Given the description of an element on the screen output the (x, y) to click on. 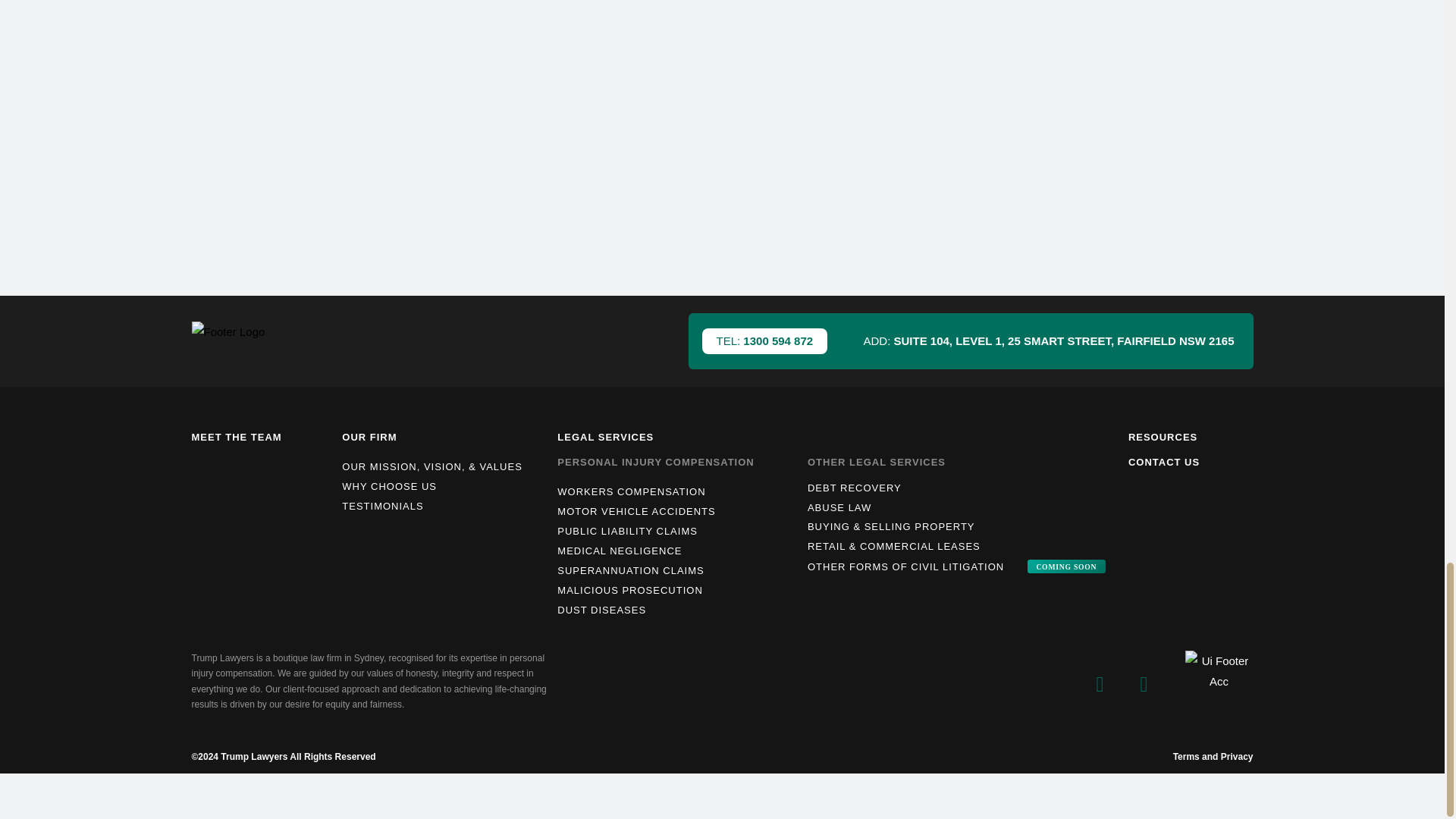
PUBLIC LIABILITY CLAIMS (678, 531)
TEL: 1300 594 872 (764, 340)
MEDICAL NEGLIGENCE (678, 551)
SUPERANNUATION CLAIMS (678, 570)
WHY CHOOSE US (441, 486)
WORKERS COMPENSATION (678, 492)
ADD: SUITE 104, LEVEL 1, 25 SMART STREET, FAIRFIELD NSW 2165 (1048, 340)
TESTIMONIALS (441, 506)
MOTOR VEHICLE ACCIDENTS (678, 511)
MEET THE TEAM (235, 437)
